Given the description of an element on the screen output the (x, y) to click on. 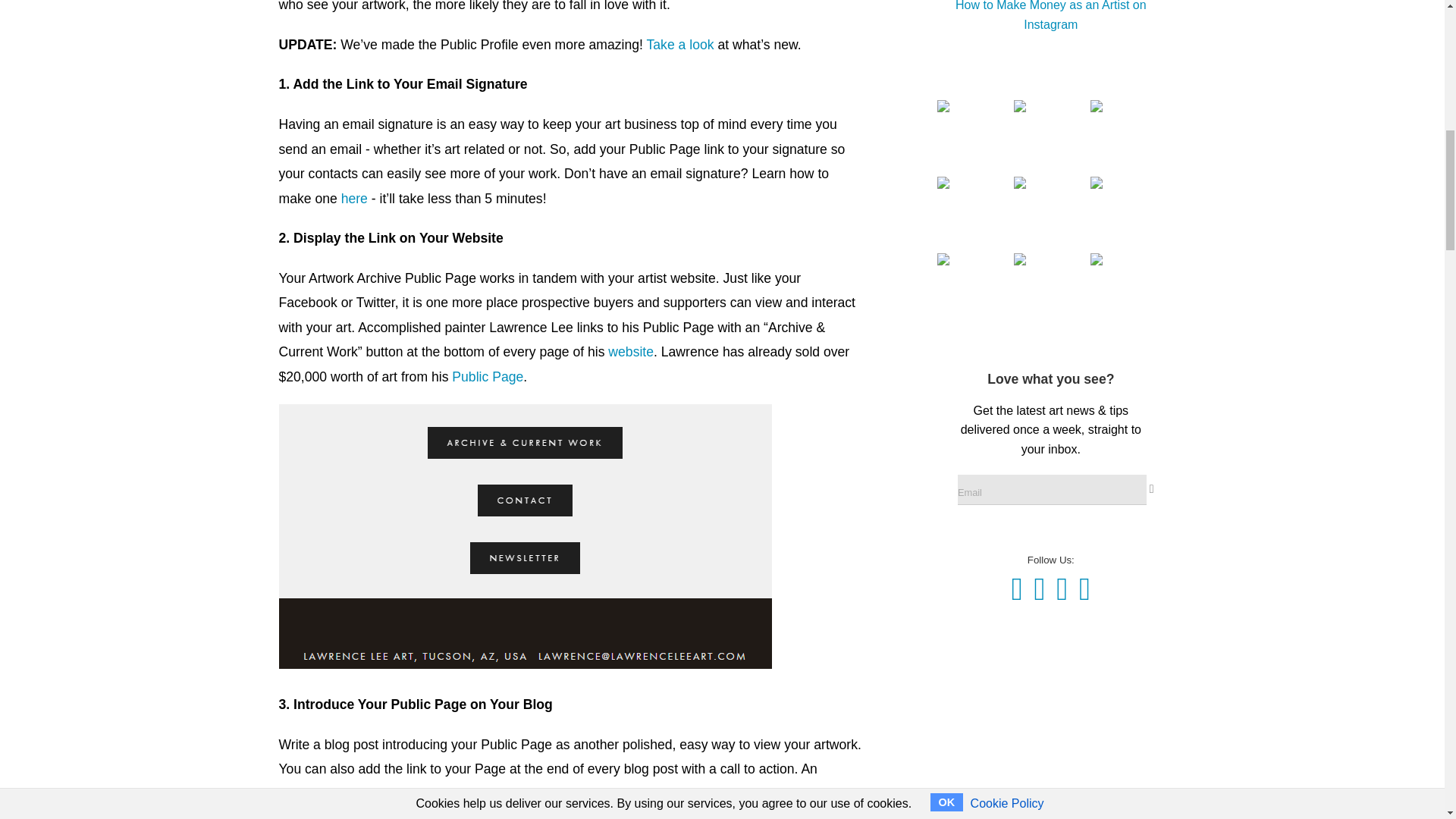
Take a look (680, 44)
here (354, 198)
website (630, 351)
